Given the description of an element on the screen output the (x, y) to click on. 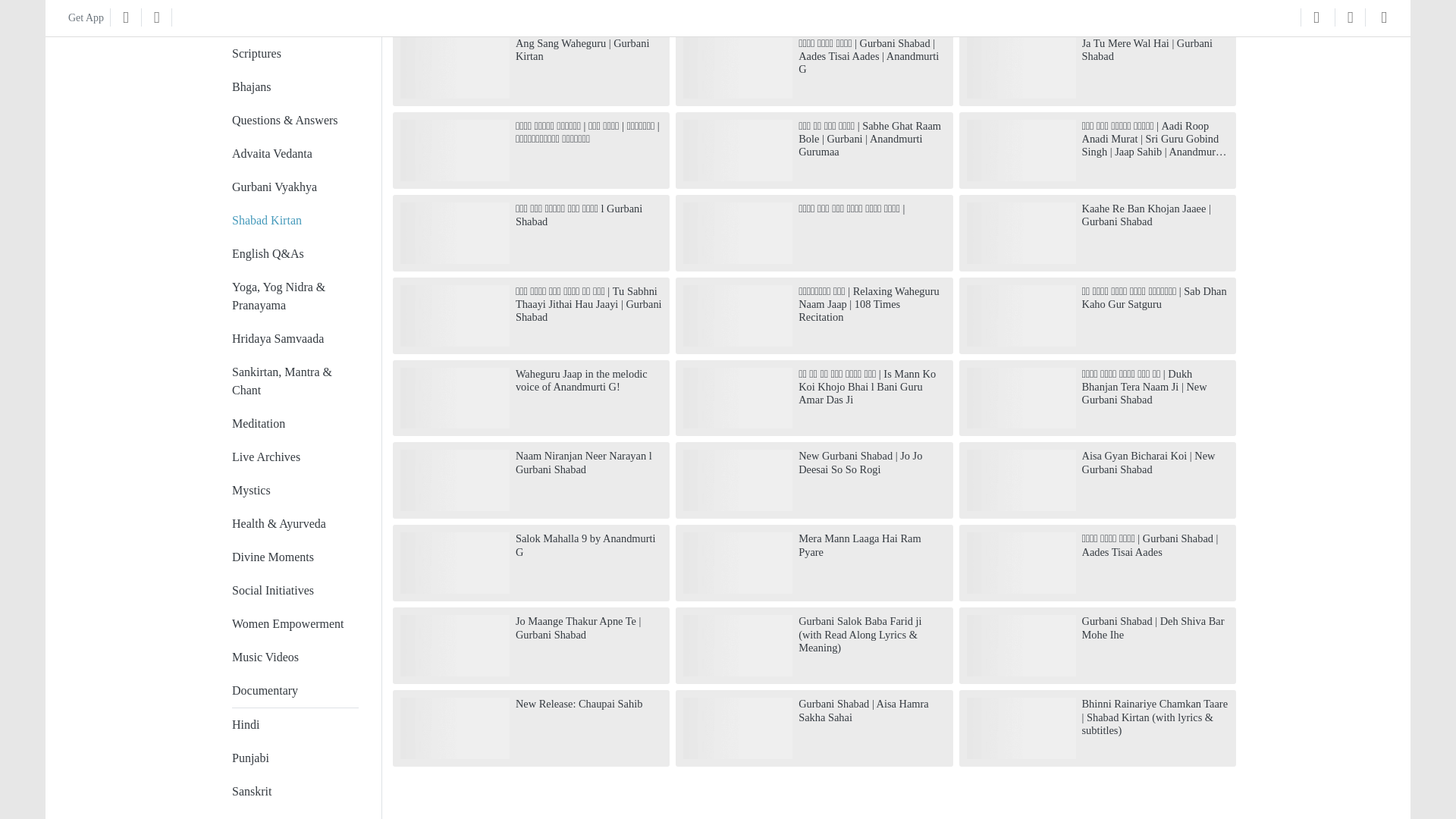
13 videos (294, 605)
453 videos (294, 101)
103 videos (294, 363)
Advaita Vedanta (272, 134)
47 videos (294, 505)
51 videos (294, 471)
124 videos (294, 235)
456 videos (294, 68)
76 videos (294, 438)
249 videos (294, 135)
English Discourses (277, 4)
106 videos (294, 320)
106 videos (294, 277)
796 videos (294, 9)
Gurbani Vyakhya (274, 168)
